Given the description of an element on the screen output the (x, y) to click on. 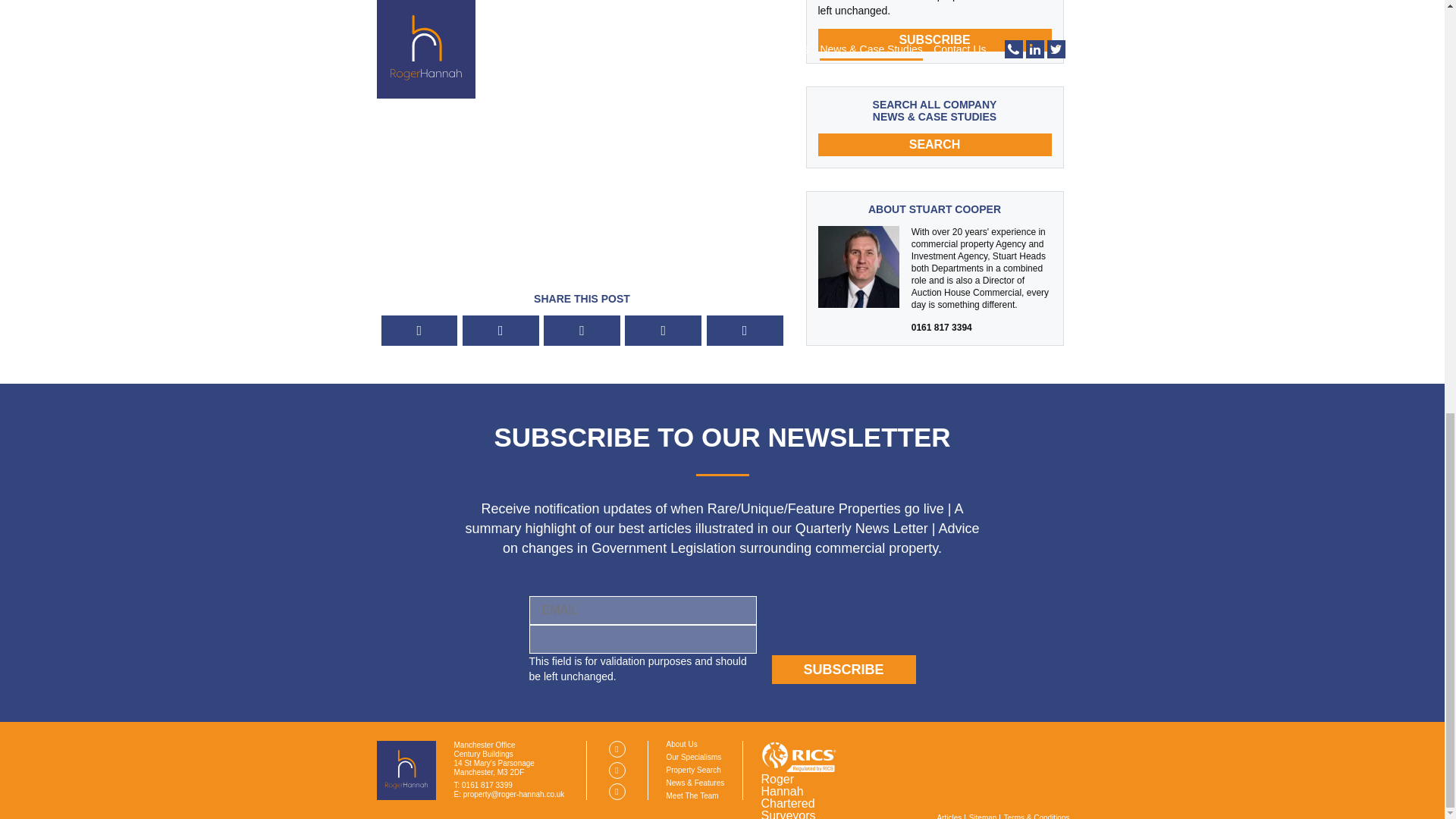
Subscribe (933, 39)
Subscribe (843, 669)
